Given the description of an element on the screen output the (x, y) to click on. 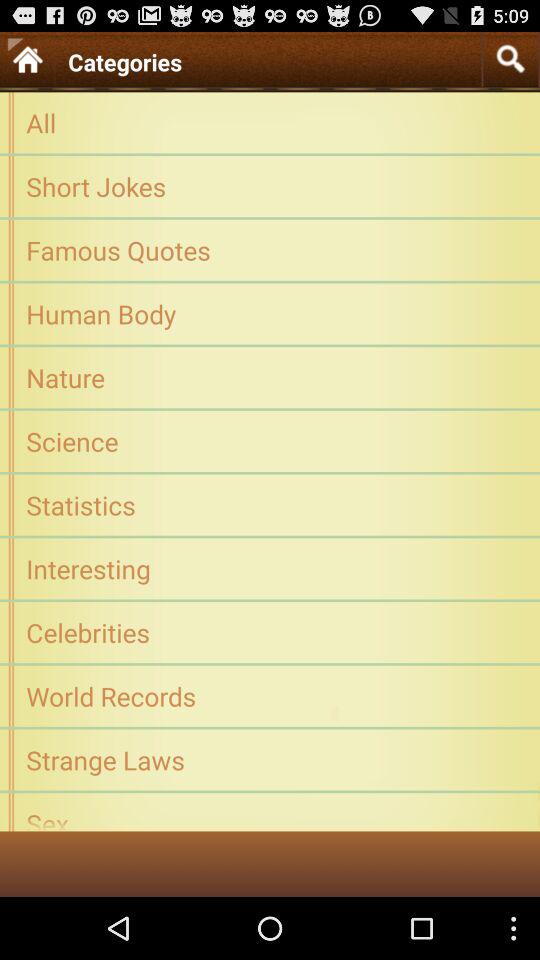
search category (510, 58)
